Given the description of an element on the screen output the (x, y) to click on. 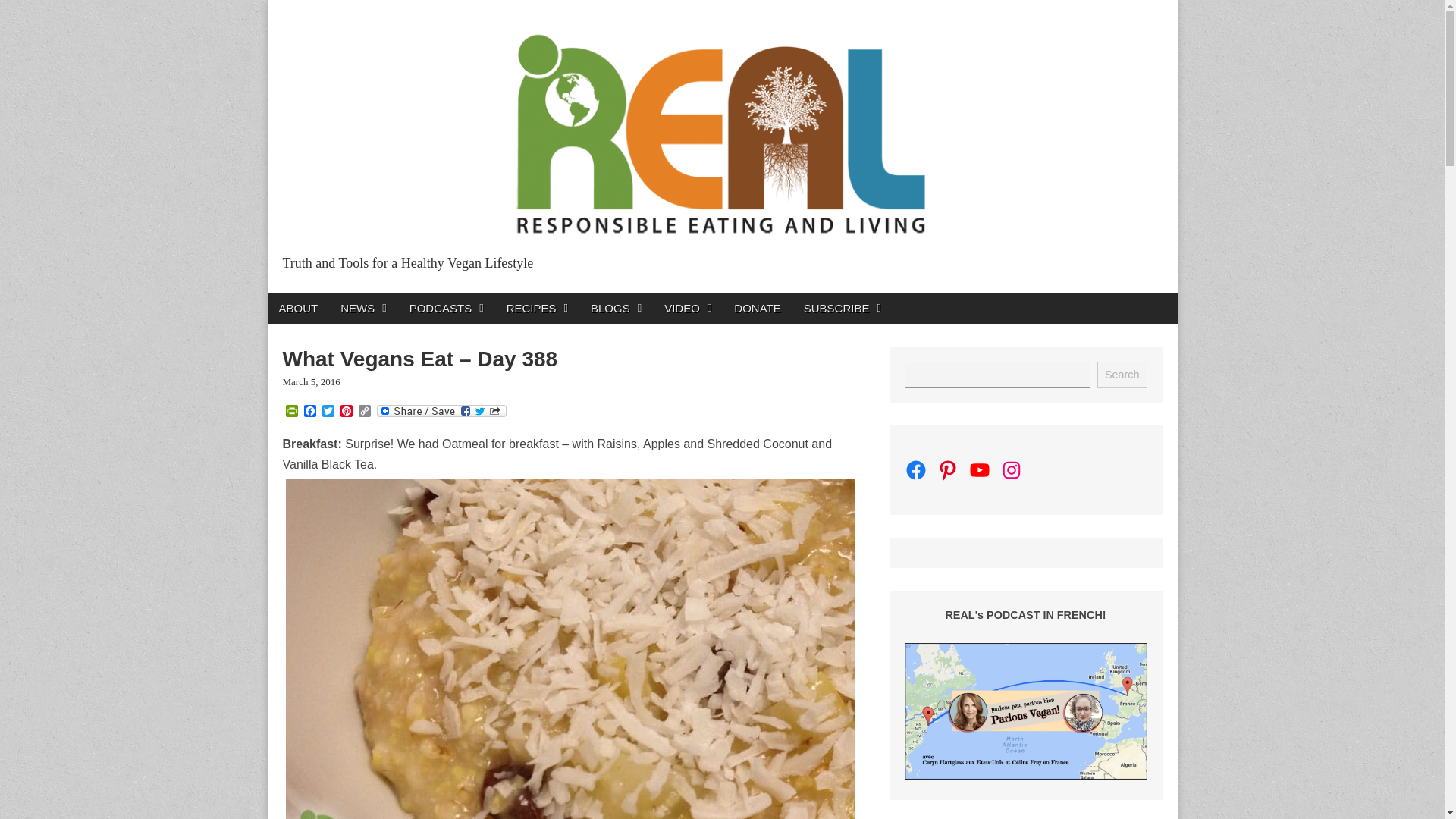
Facebook (308, 411)
VIDEO (687, 307)
BLOGS (615, 307)
NEWS (363, 307)
DONATE (757, 307)
PrintFriendly (290, 411)
Copy Link (363, 411)
Pinterest (345, 411)
Twitter (327, 411)
